Given the description of an element on the screen output the (x, y) to click on. 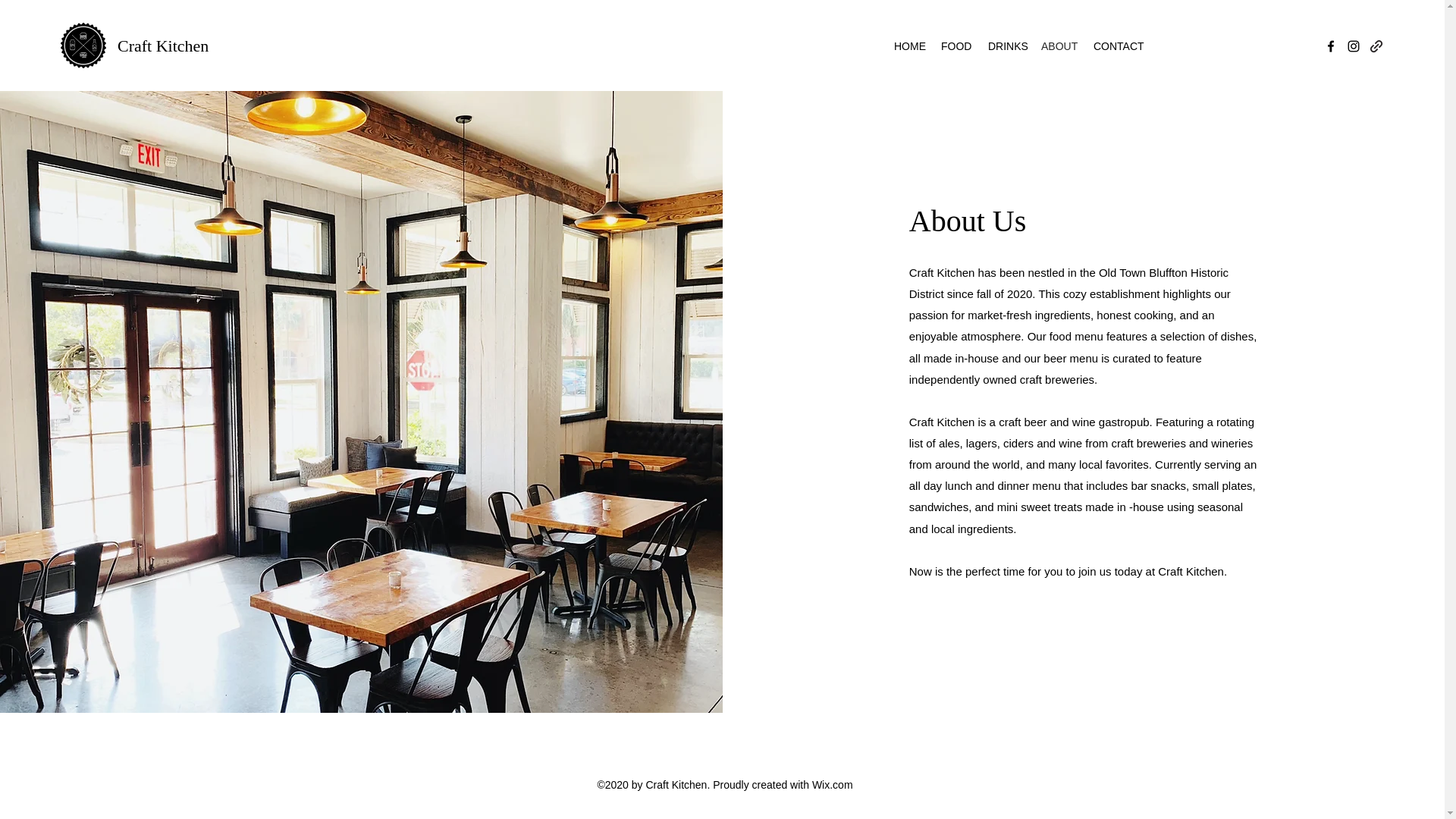
HOME (909, 46)
DRINKS (1006, 46)
ABOUT (1059, 46)
Craft Kitchen (162, 45)
FOOD (956, 46)
CONTACT (1119, 46)
